Given the description of an element on the screen output the (x, y) to click on. 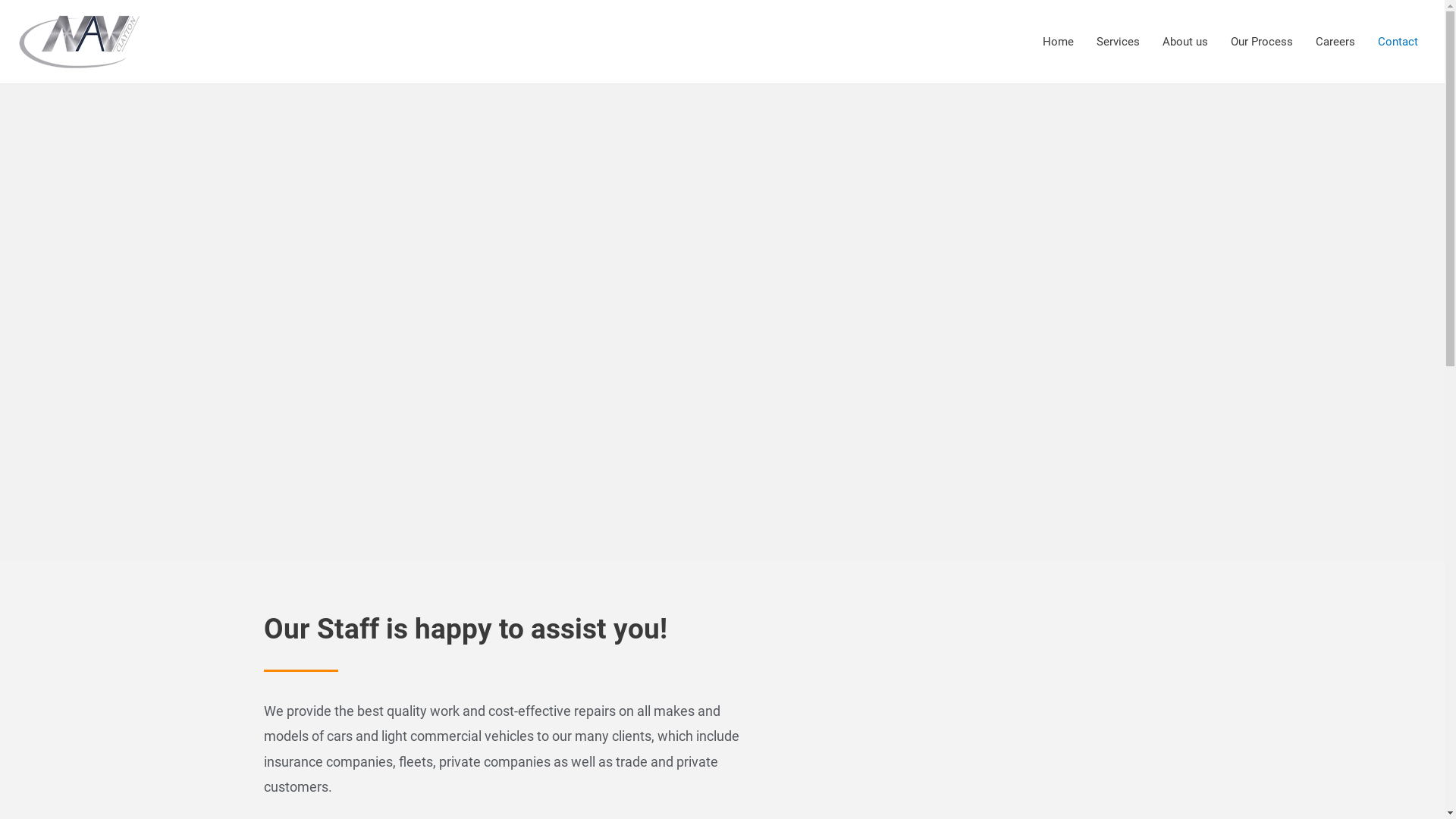
Our Process Element type: text (1261, 41)
Contact Element type: text (1397, 41)
Services Element type: text (1118, 41)
Careers Element type: text (1335, 41)
About us Element type: text (1185, 41)
Home Element type: text (1058, 41)
